Given the description of an element on the screen output the (x, y) to click on. 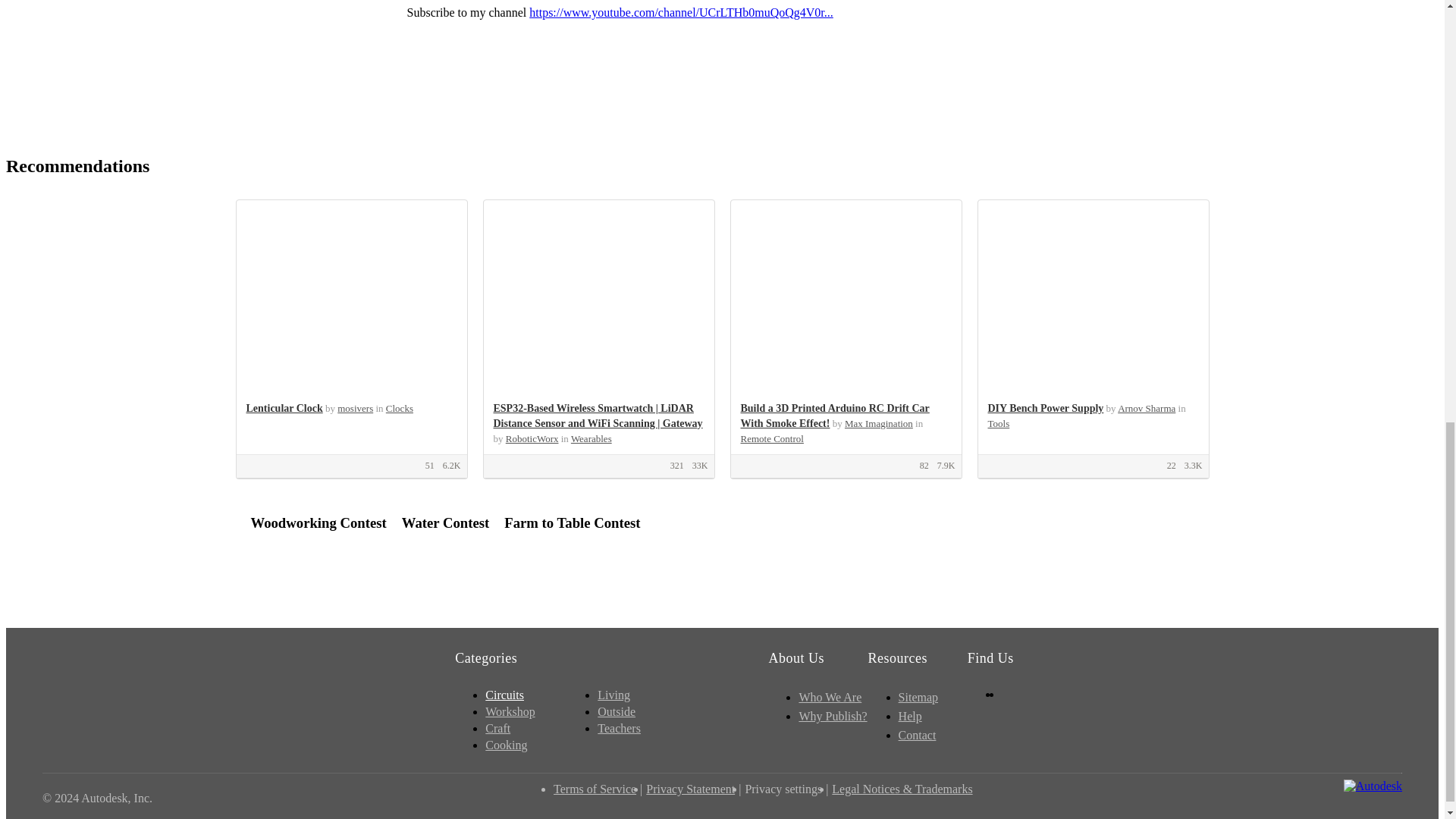
Arnov Sharma (1146, 408)
DIY Bench Power Supply (1045, 408)
Clocks (399, 408)
mosivers (354, 408)
RoboticWorx (532, 438)
Tools (998, 423)
Remote Control (771, 438)
Wearables (590, 438)
Lenticular Clock (283, 408)
Build a 3D Printed Arduino RC Drift Car With Smoke Effect! (833, 415)
Max Imagination (878, 423)
